Given the description of an element on the screen output the (x, y) to click on. 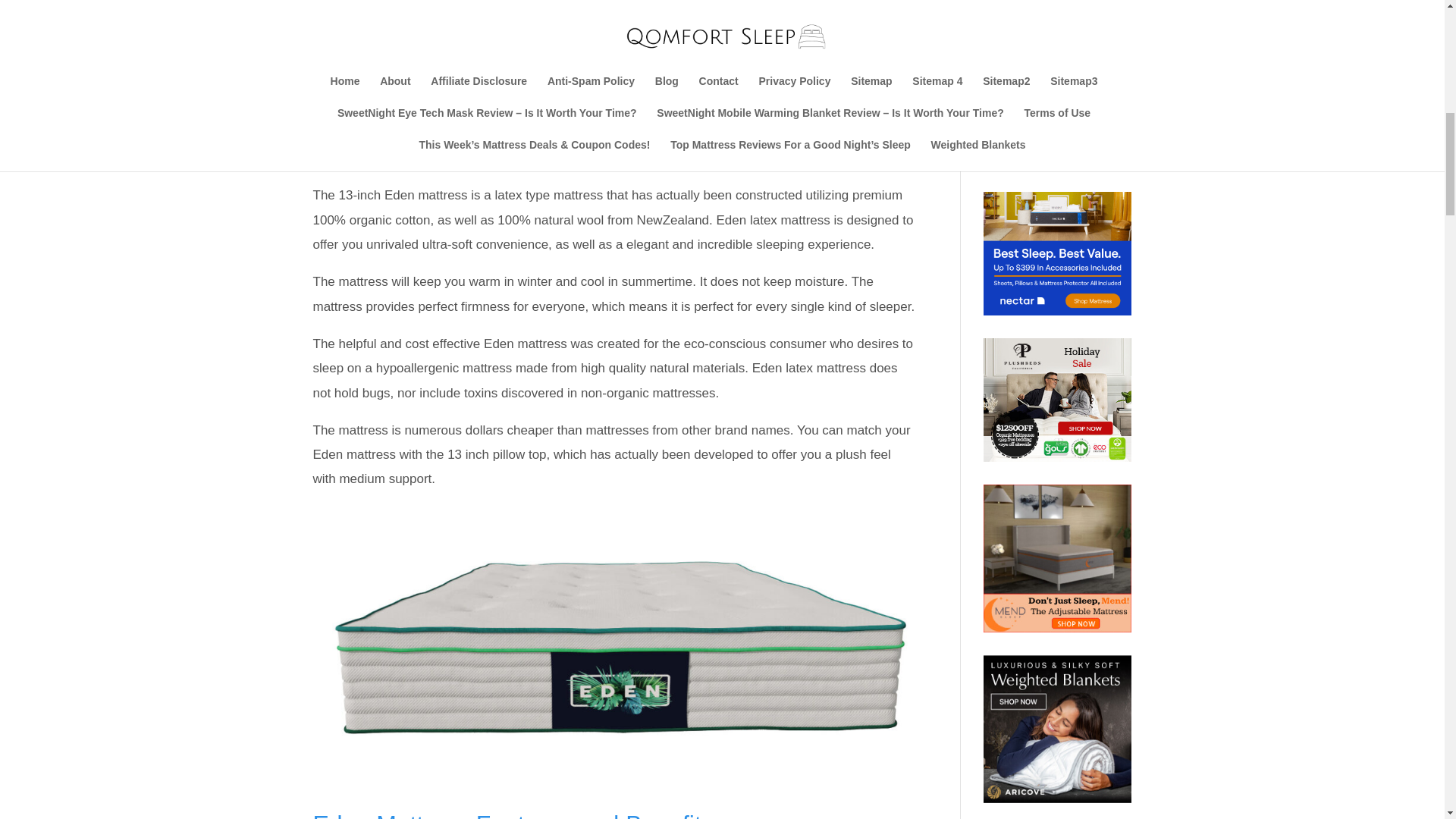
show (416, 64)
